Given the description of an element on the screen output the (x, y) to click on. 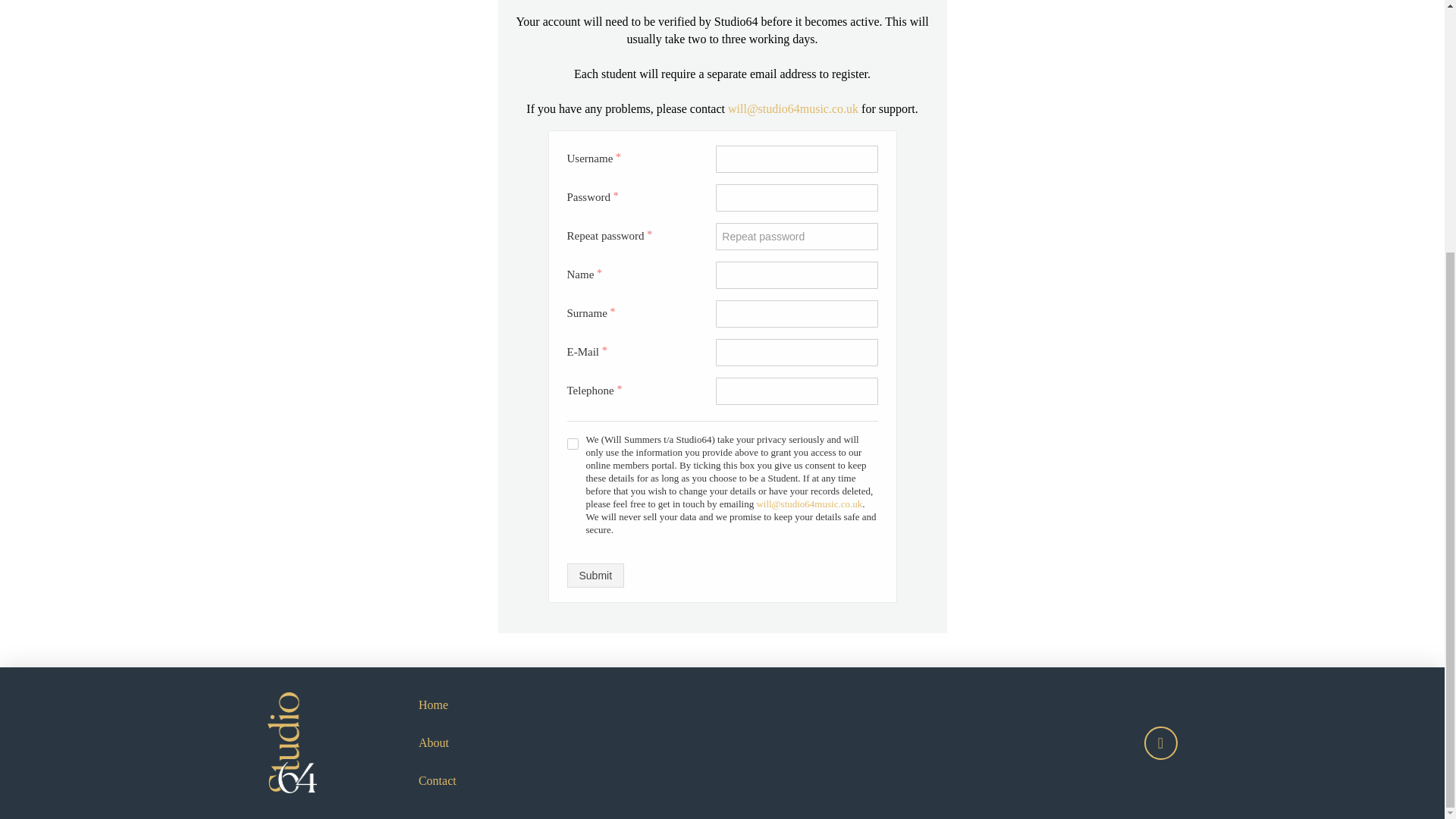
About (433, 742)
Contact (437, 781)
Submit (595, 575)
Home (433, 704)
